Given the description of an element on the screen output the (x, y) to click on. 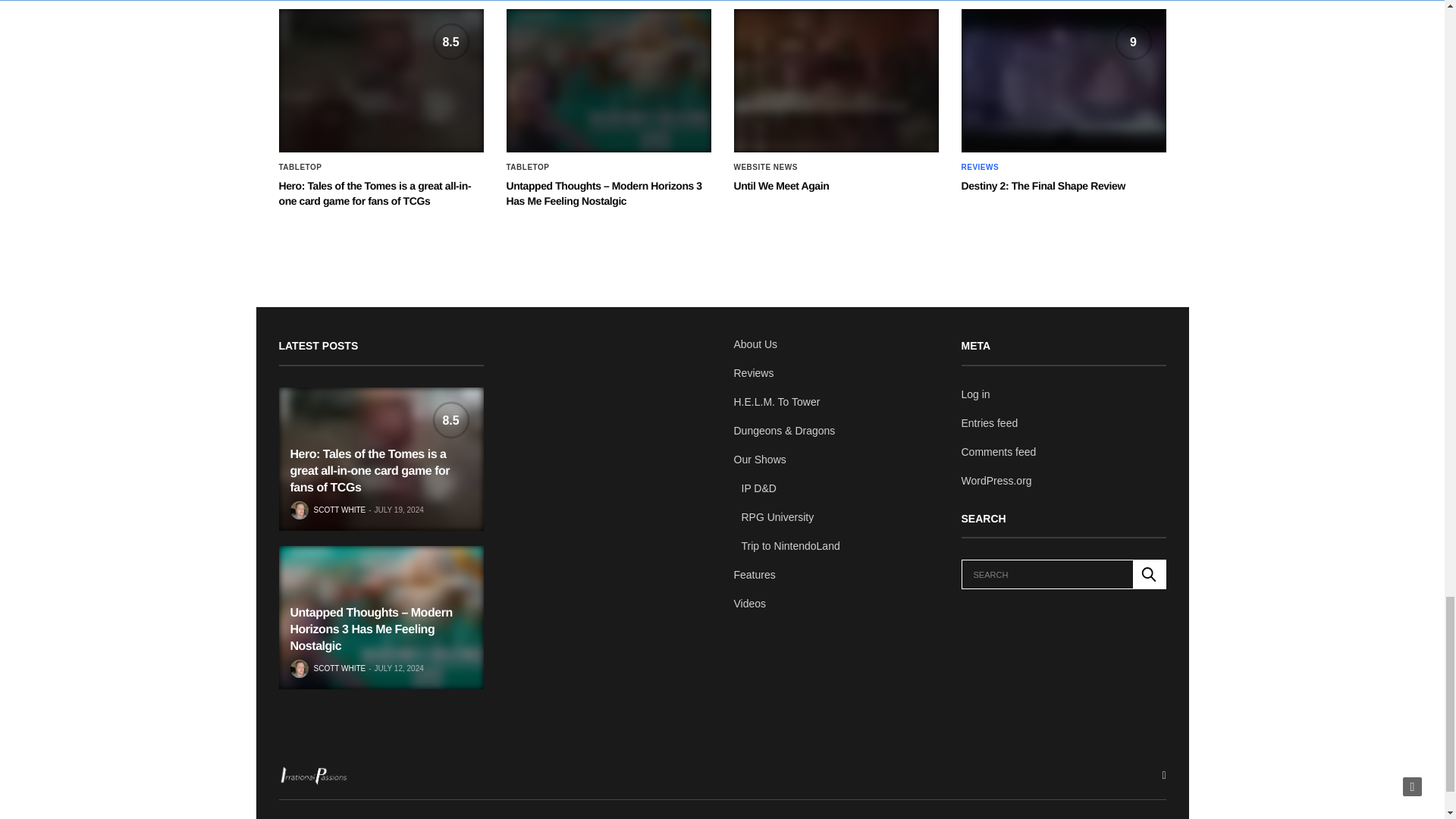
Search (1149, 573)
